Given the description of an element on the screen output the (x, y) to click on. 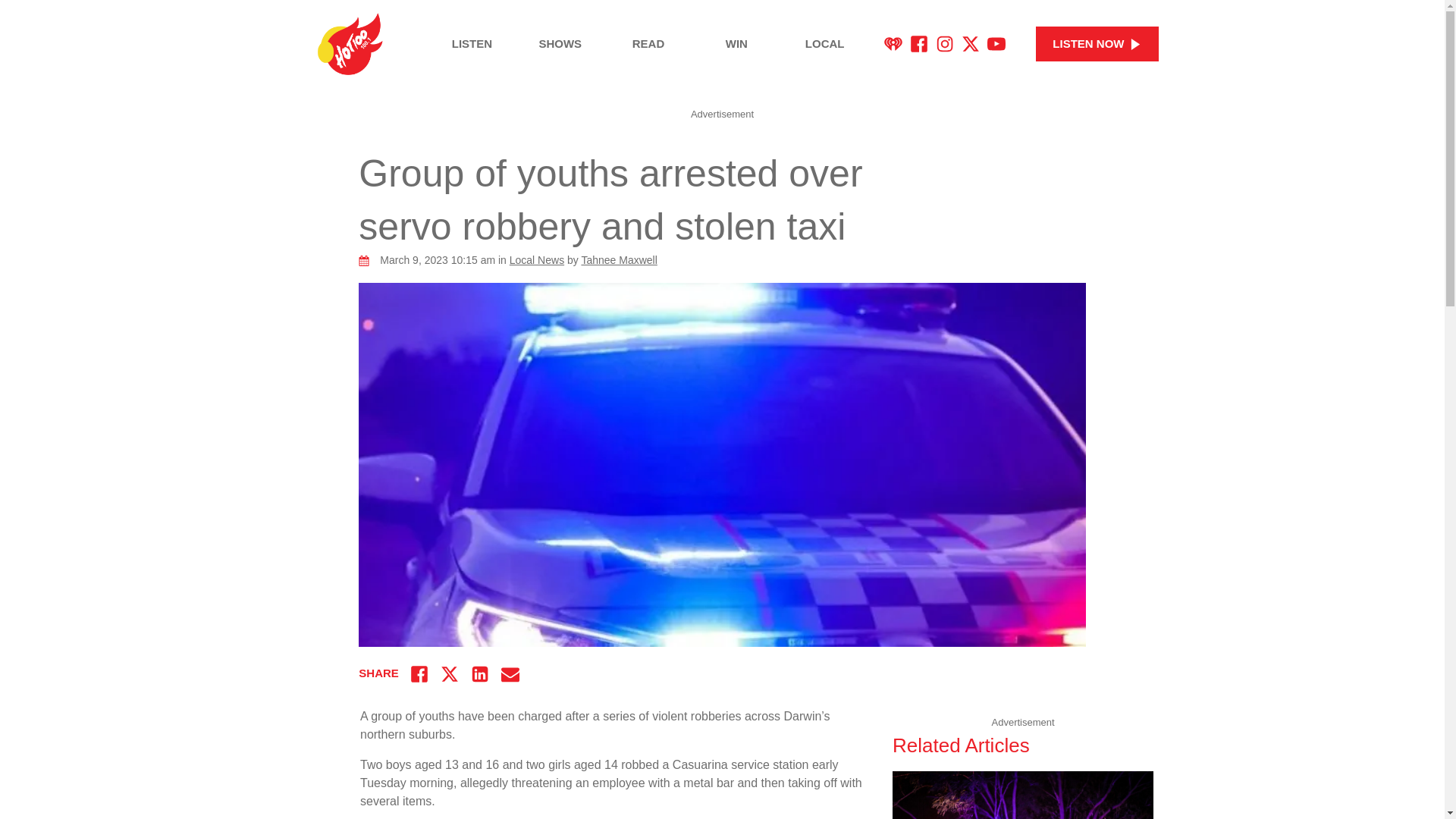
SHOWS (560, 43)
LISTEN NOW (1096, 44)
WIN (736, 43)
Instagram (944, 44)
iHeart (892, 44)
READ (648, 43)
Posts by Tahnee Maxwell (618, 259)
Facebook (919, 44)
YouTube (996, 44)
LISTEN (471, 43)
LOCAL (824, 43)
